Given the description of an element on the screen output the (x, y) to click on. 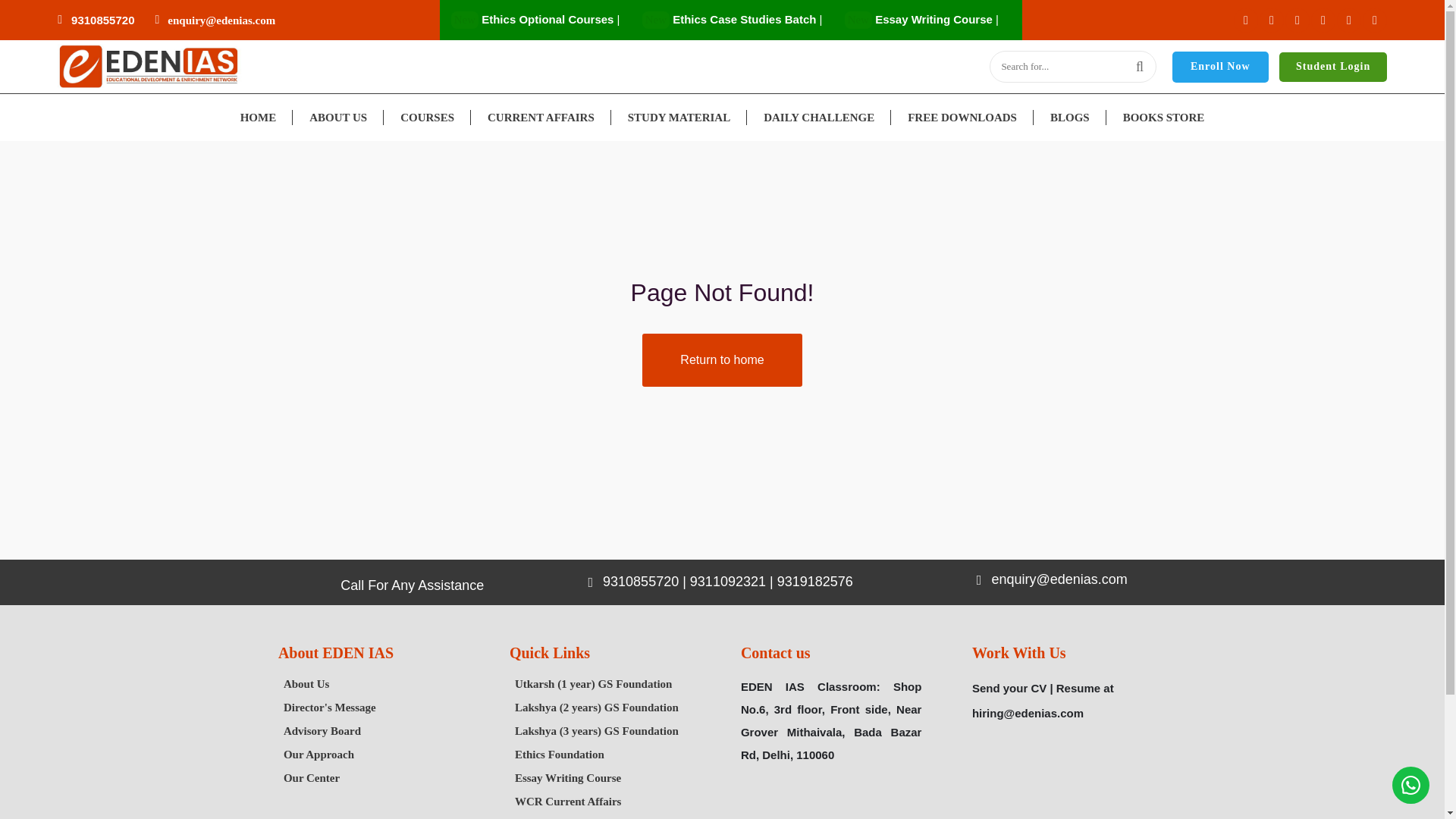
ABOUT US (338, 117)
COURSES (427, 117)
Student Login (1333, 66)
HOME (259, 117)
Enroll Now (1220, 66)
